Given the description of an element on the screen output the (x, y) to click on. 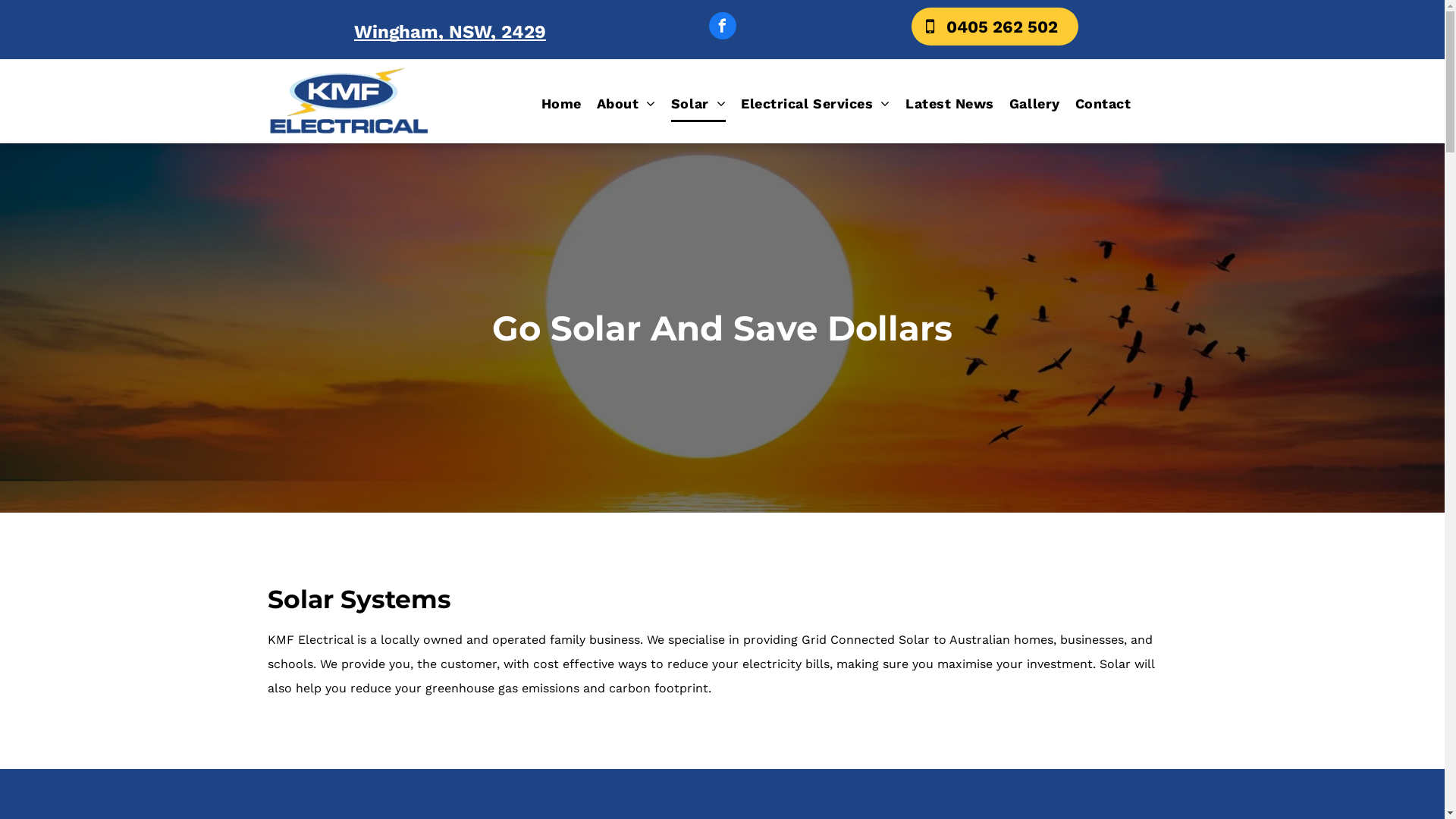
Wingham, NSW, 2429 Element type: text (450, 31)
Contact Element type: text (1103, 103)
Home Element type: text (561, 103)
Gallery Element type: text (1034, 103)
KMF Electrical & Solar Element type: hover (347, 100)
Solar Element type: text (698, 103)
0405 262 502 Element type: text (994, 26)
About Element type: text (626, 103)
Electrical Services Element type: text (815, 103)
Latest News Element type: text (949, 103)
